Given the description of an element on the screen output the (x, y) to click on. 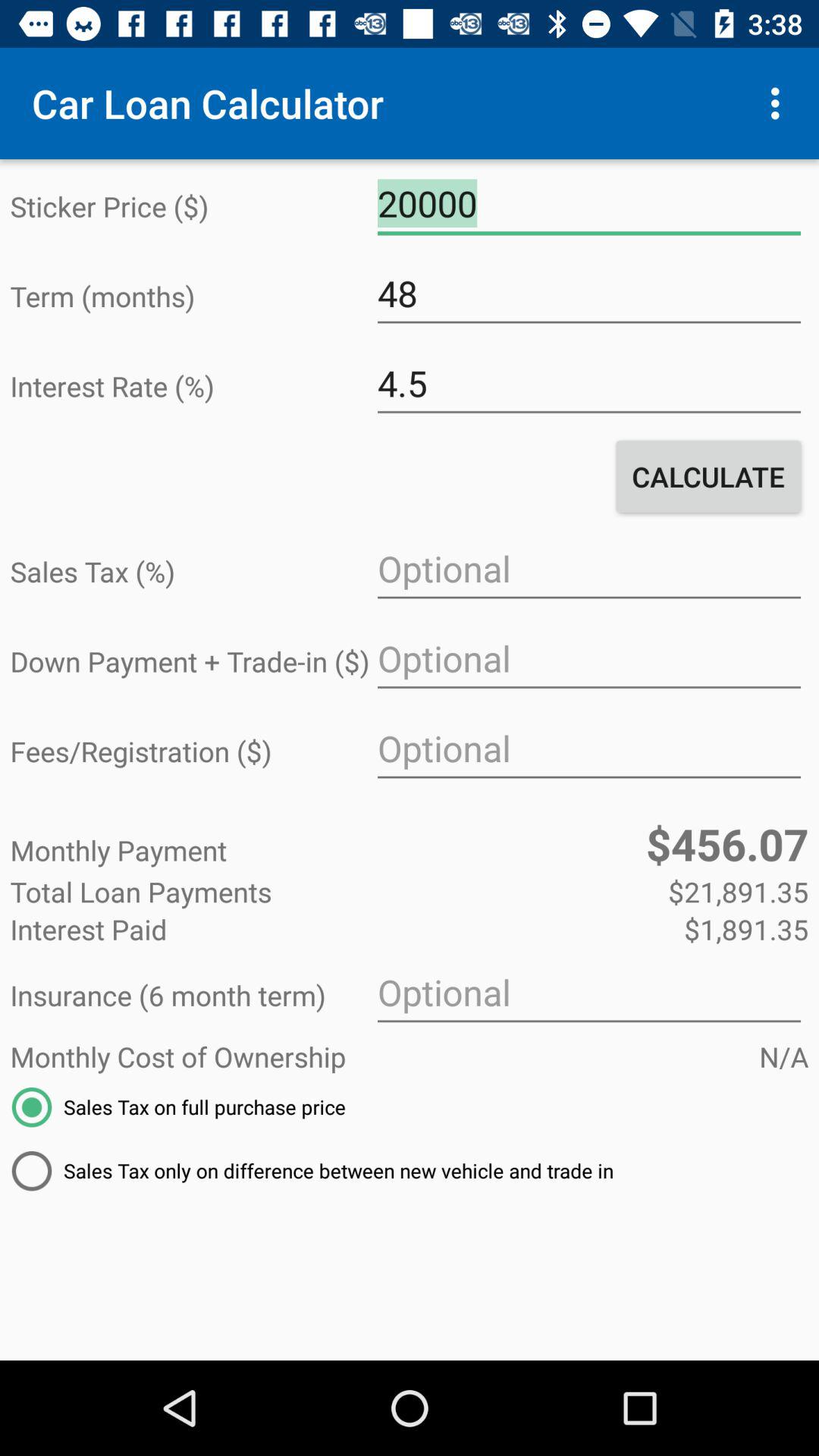
flip until the calculate item (707, 476)
